Given the description of an element on the screen output the (x, y) to click on. 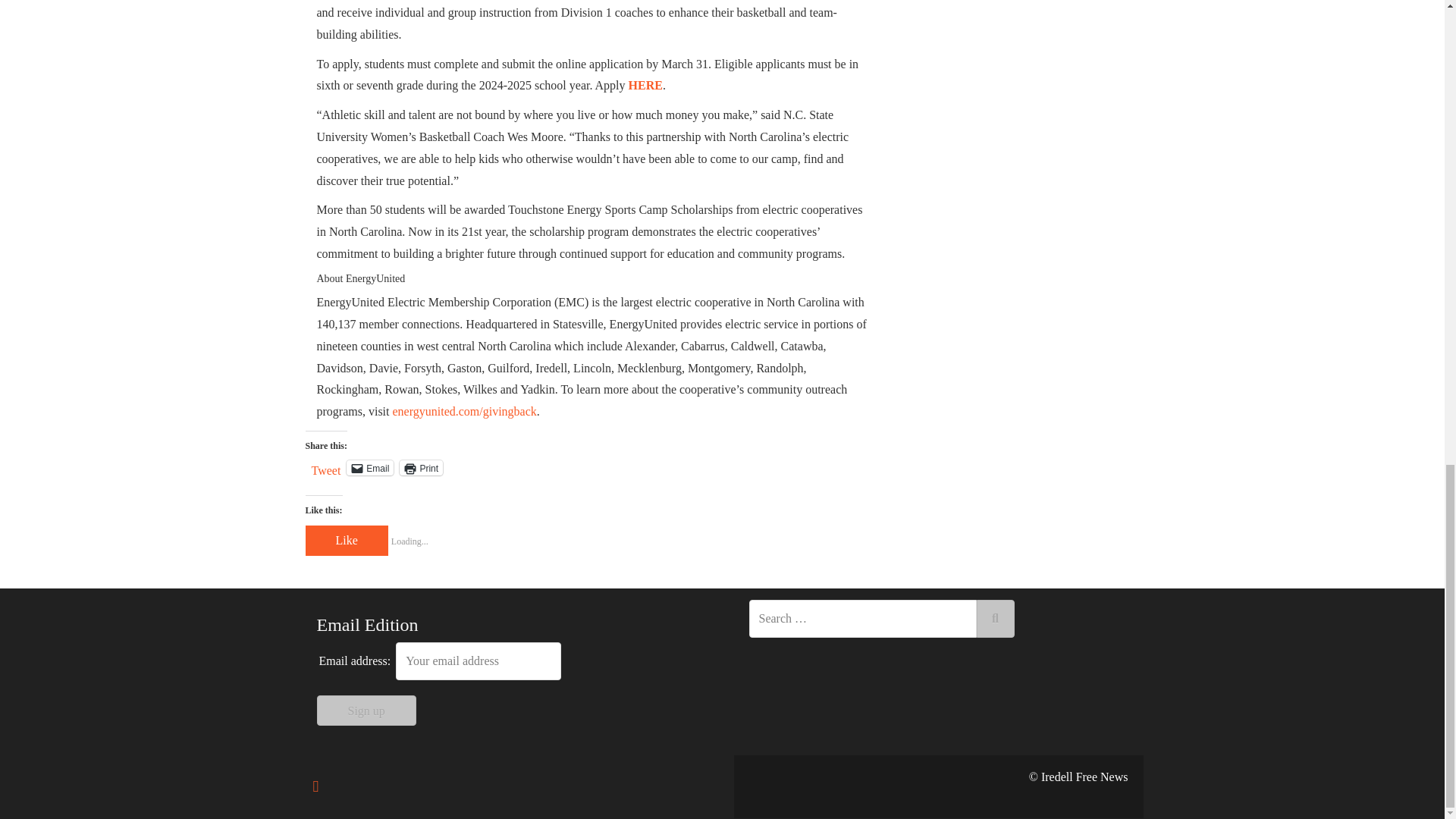
HERE (645, 84)
Sign up (366, 710)
Email (369, 467)
Click to print (420, 467)
Tweet (325, 467)
Click to email a link to a friend (369, 467)
Print (420, 467)
